Given the description of an element on the screen output the (x, y) to click on. 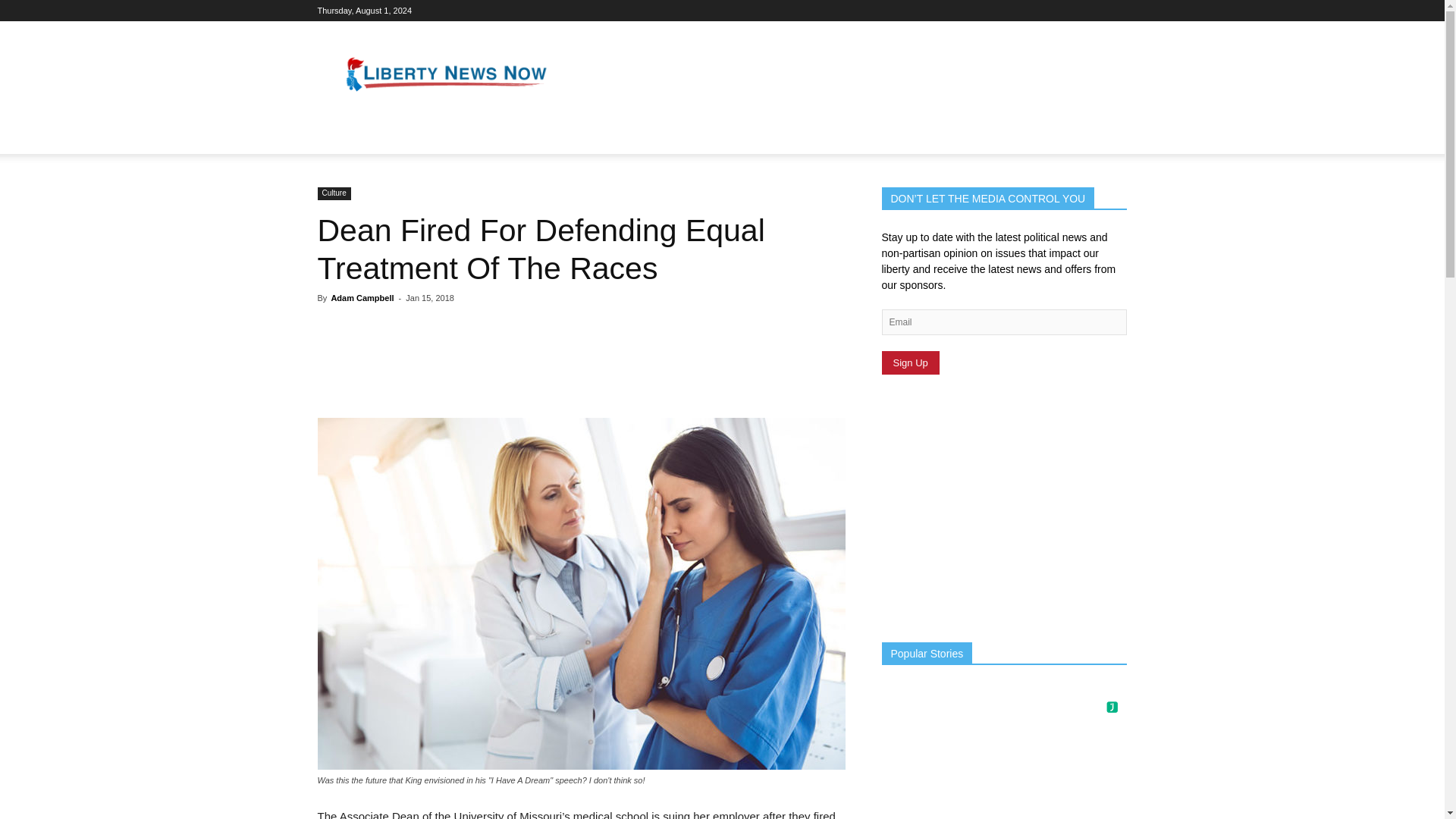
POLITICS (352, 135)
Sign Up (909, 362)
CULTURE (422, 135)
Liberty News Now (445, 76)
OPINION (491, 135)
Advertisement (850, 76)
